Given the description of an element on the screen output the (x, y) to click on. 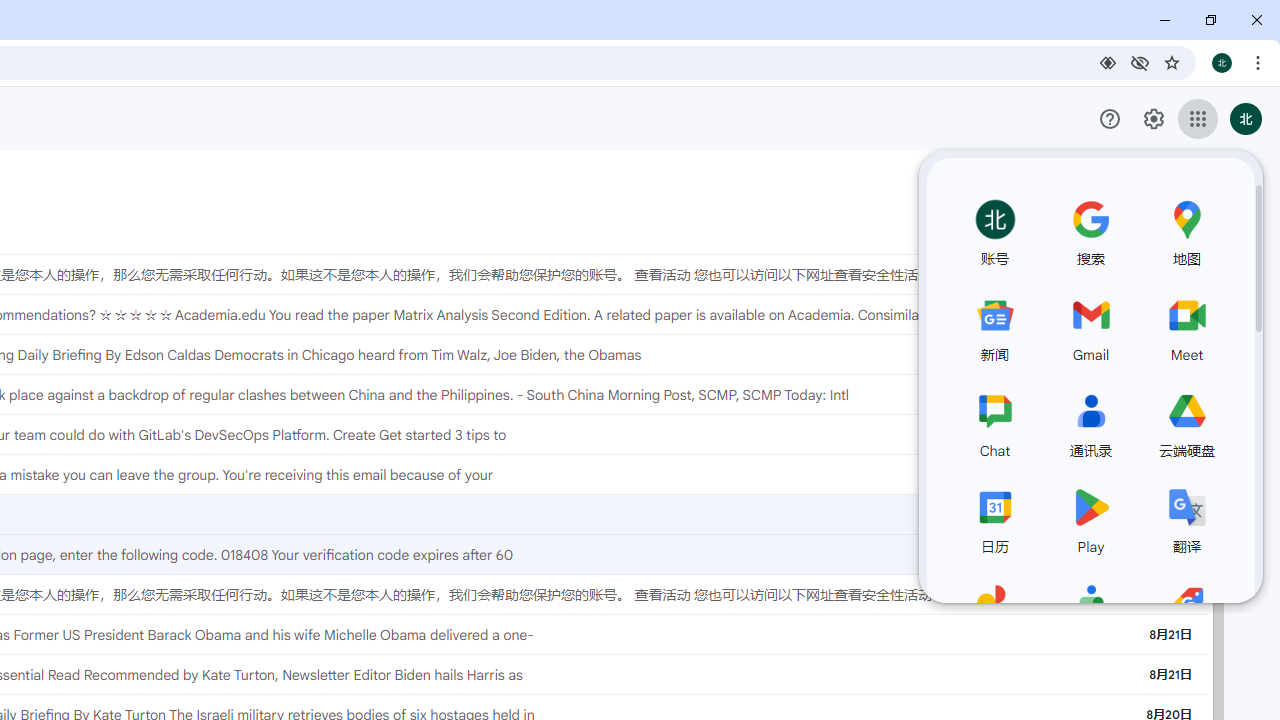
Tasks (1251, 290)
page wants to install a service handler. (1107, 62)
